Given the description of an element on the screen output the (x, y) to click on. 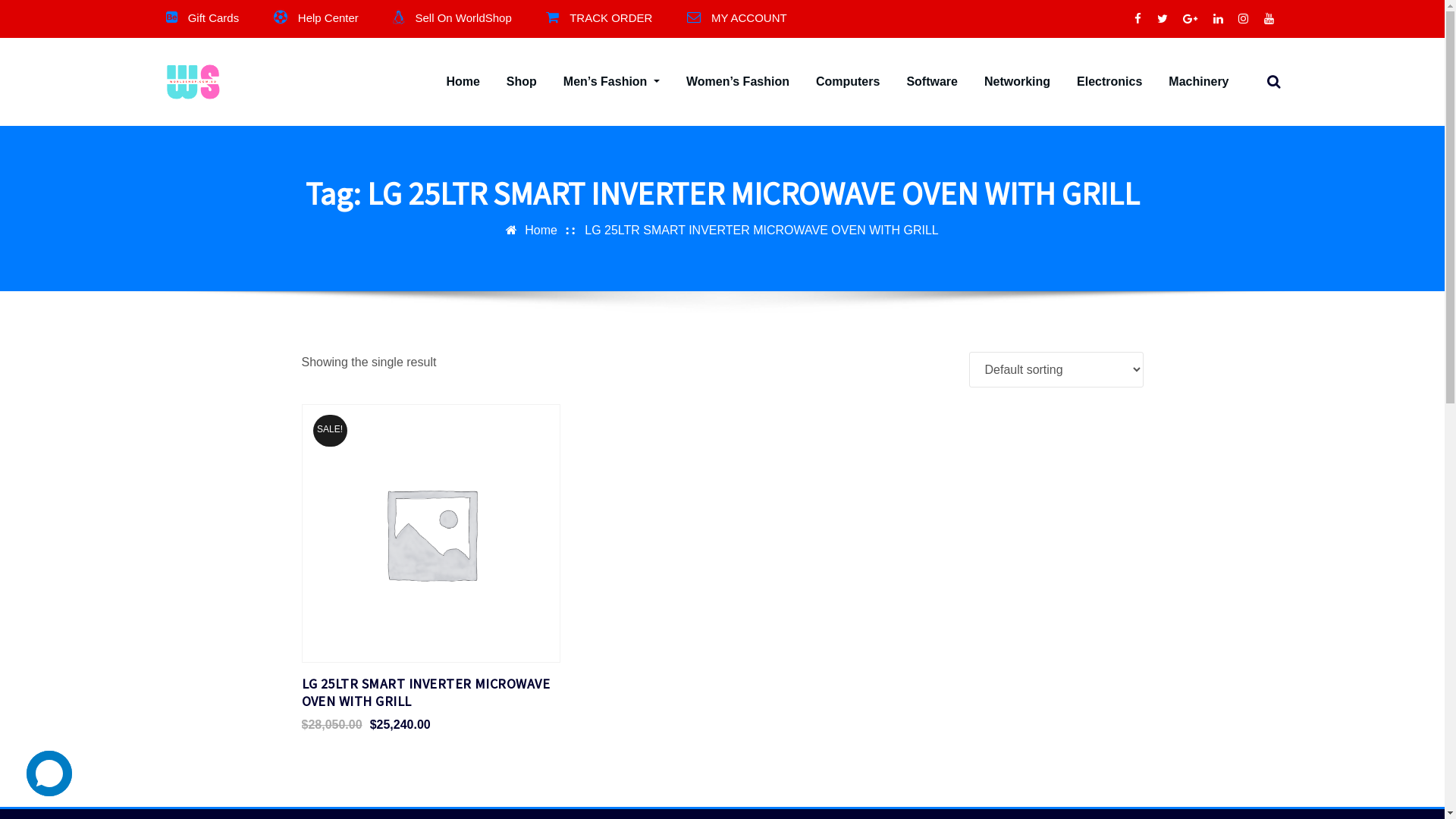
Software Element type: text (931, 81)
Shop Element type: text (521, 81)
Gift Cards Element type: text (213, 17)
Electronics Element type: text (1109, 81)
Computers Element type: text (847, 81)
Help Center Element type: text (328, 17)
Home Element type: text (462, 81)
Sell On WorldShop Element type: text (462, 17)
LG 25LTR SMART INVERTER MICROWAVE OVEN WITH GRILL Element type: text (761, 229)
Machinery Element type: text (1198, 81)
TRACK ORDER Element type: text (610, 17)
Home Element type: text (540, 229)
Networking Element type: text (1017, 81)
MY ACCOUNT Element type: text (749, 17)
